Given the description of an element on the screen output the (x, y) to click on. 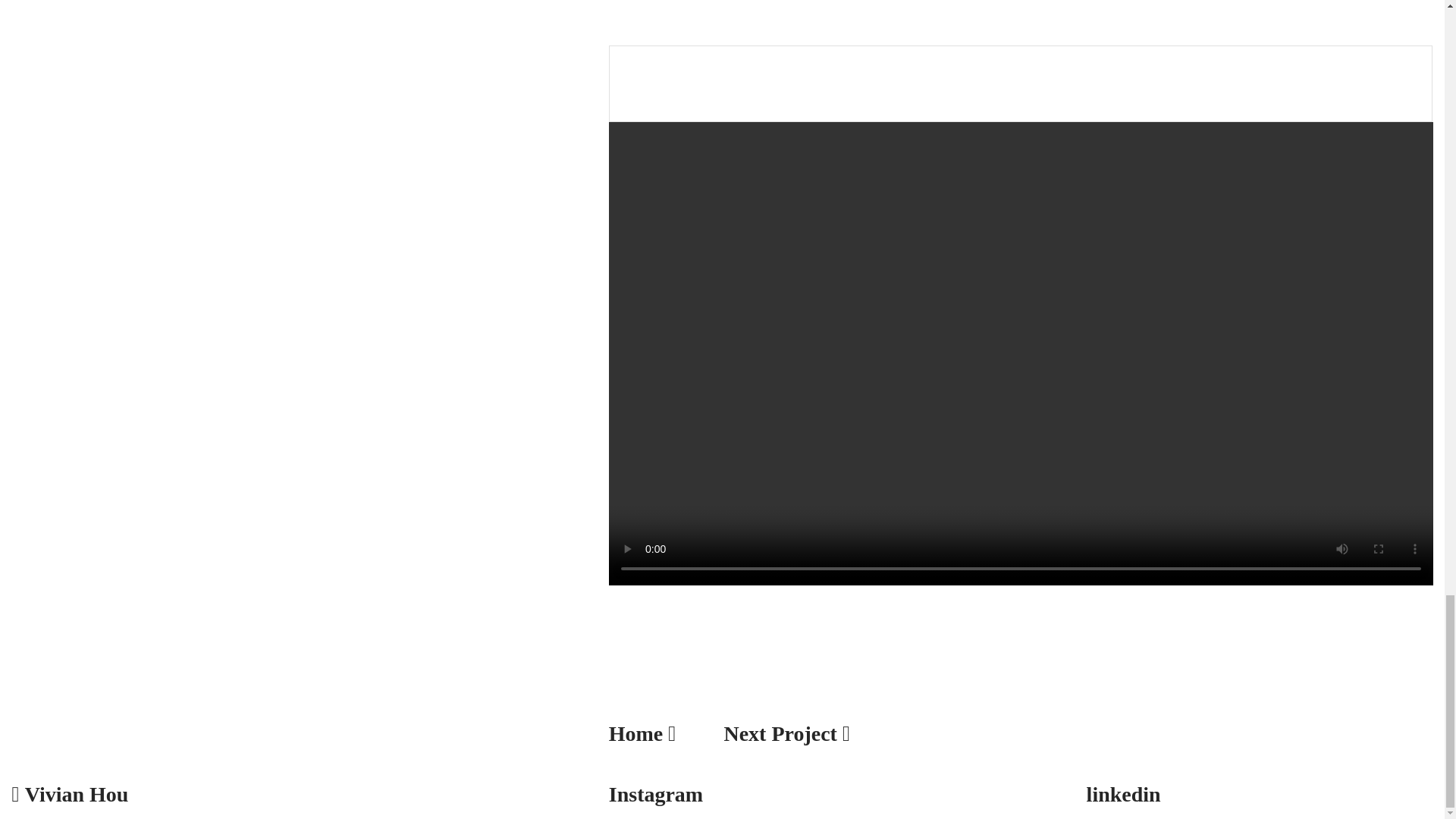
Home (635, 733)
Instagram (655, 793)
Next Project (779, 733)
linkedin (1123, 793)
